Given the description of an element on the screen output the (x, y) to click on. 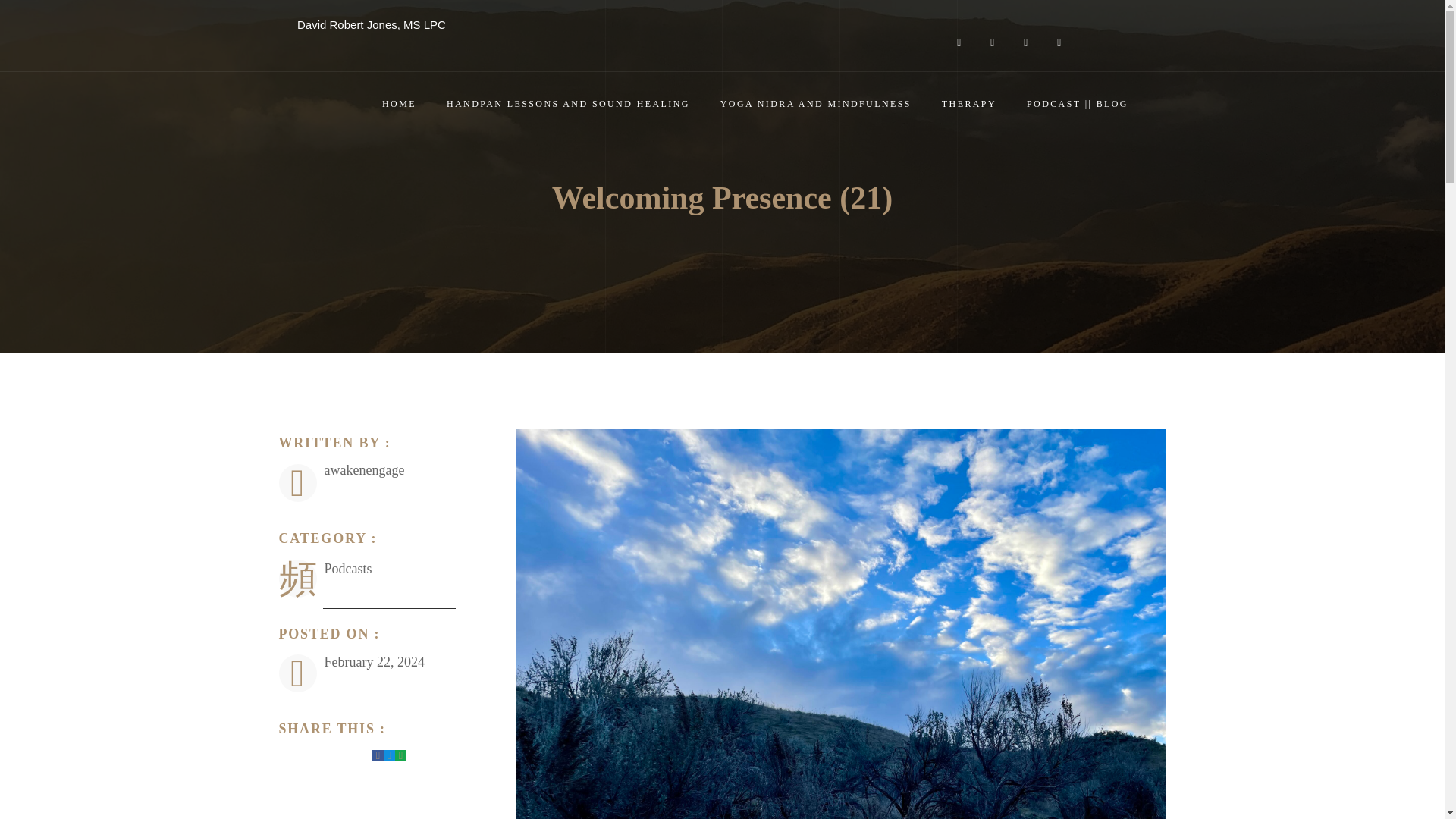
YOGA NIDRA AND MINDFULNESS (800, 104)
HANDPAN LESSONS AND SOUND HEALING (553, 104)
THERAPY (953, 104)
HOME (384, 104)
